Given the description of an element on the screen output the (x, y) to click on. 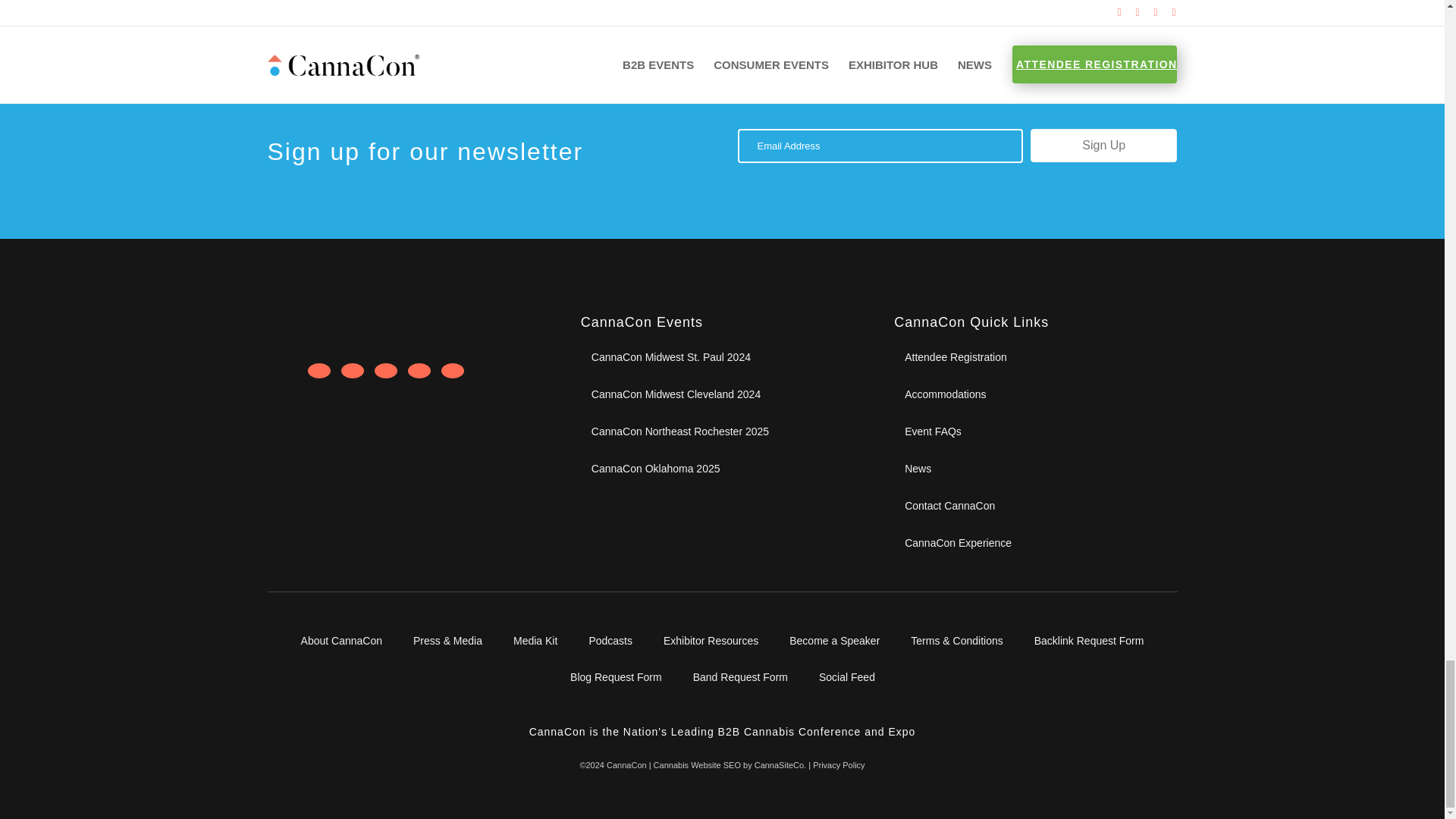
Group 23 (390, 325)
Submit Comment (323, 3)
